Given the description of an element on the screen output the (x, y) to click on. 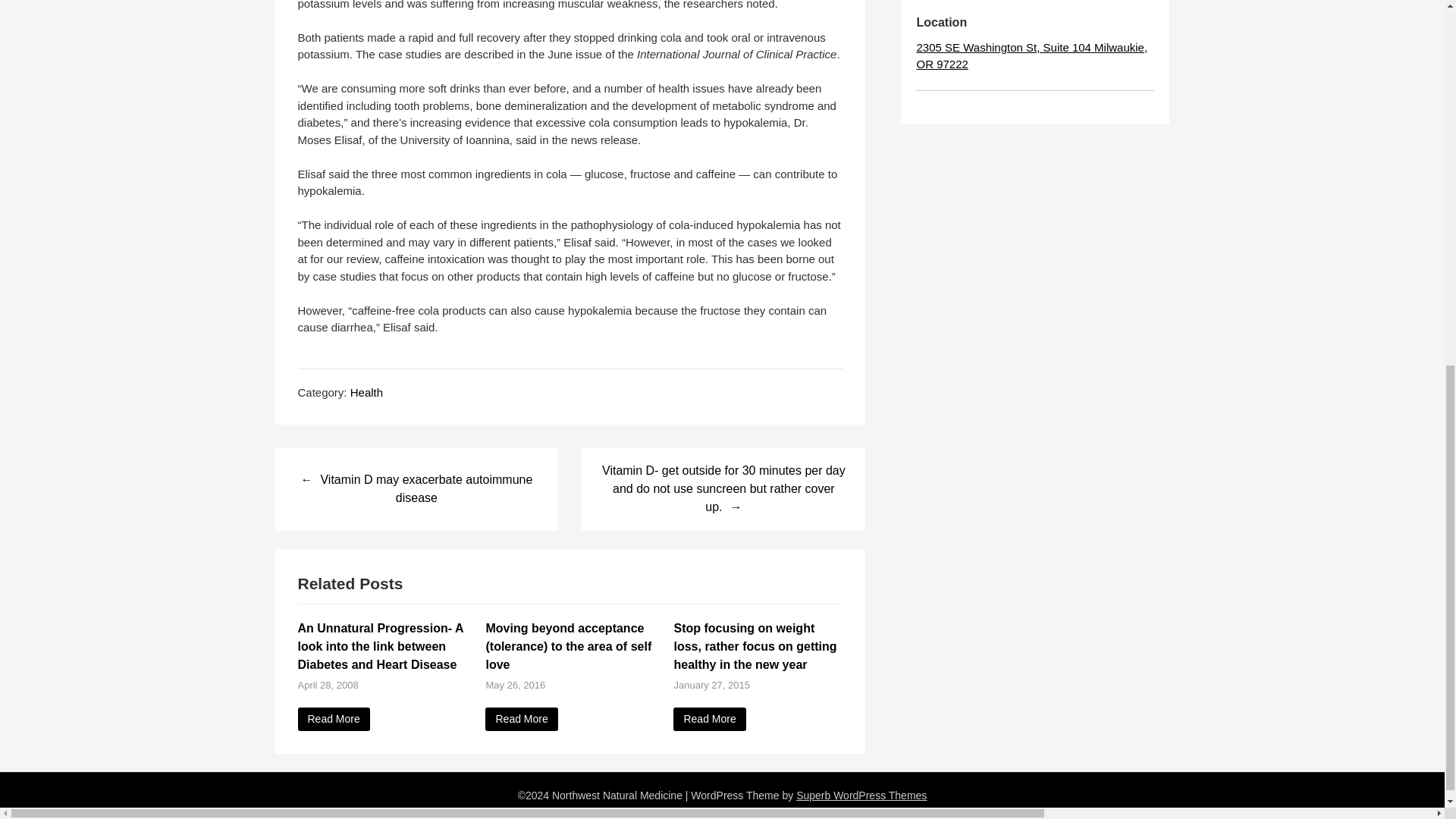
Superb WordPress Themes (861, 795)
Health (366, 391)
Read More (708, 719)
2305 SE Washington St, Suite 104 Milwaukie, OR 97222 (1031, 55)
Vitamin D may exacerbate autoimmune disease (416, 488)
Read More (520, 719)
Read More (333, 719)
